Given the description of an element on the screen output the (x, y) to click on. 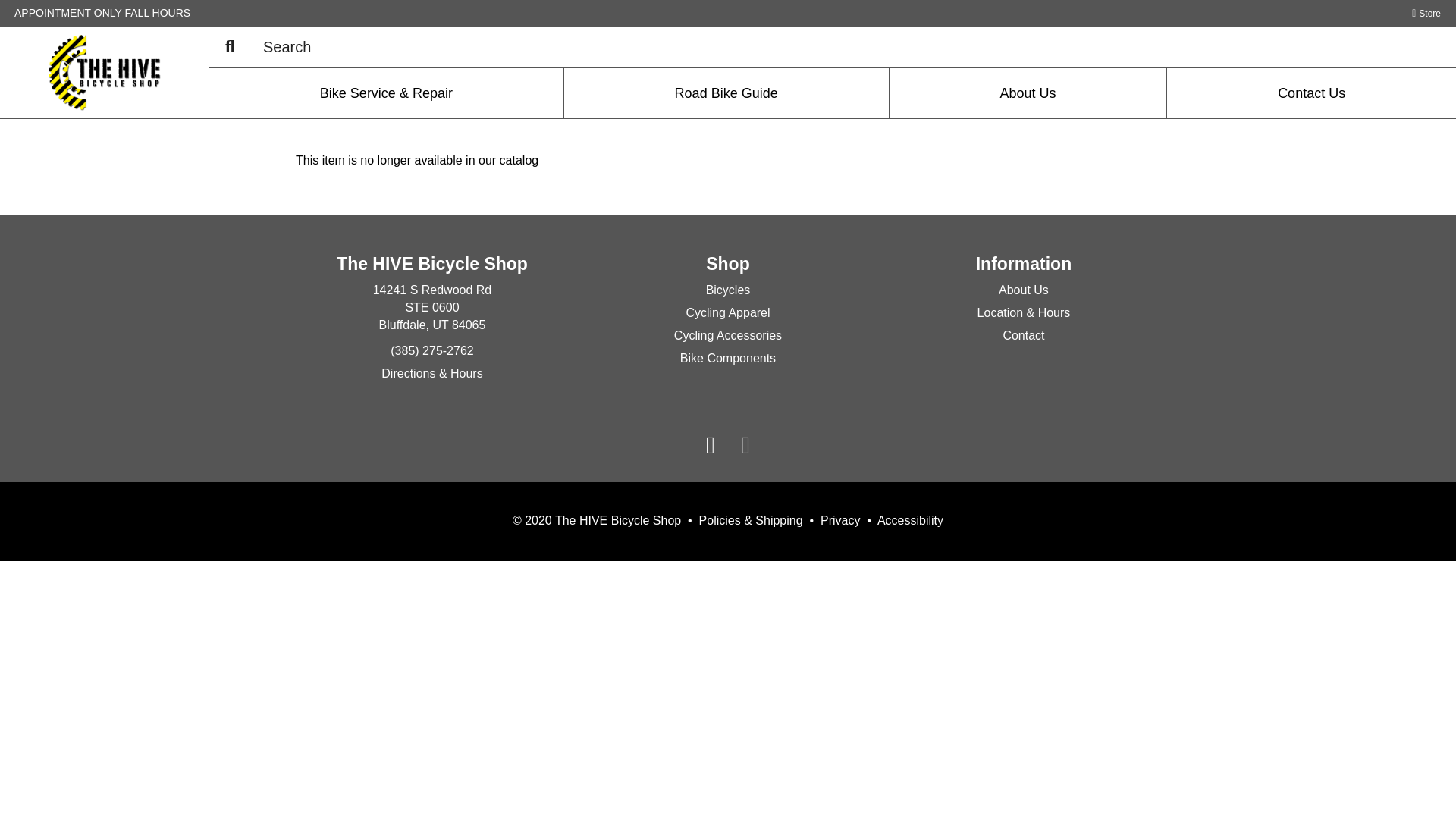
Bike Components (727, 358)
About Us (1426, 11)
Bicycles (1028, 92)
Search (728, 289)
Accessibility (229, 46)
Cycling Apparel (910, 520)
Road Bike Guide (727, 312)
Privacy (726, 92)
Contact (840, 520)
